Given the description of an element on the screen output the (x, y) to click on. 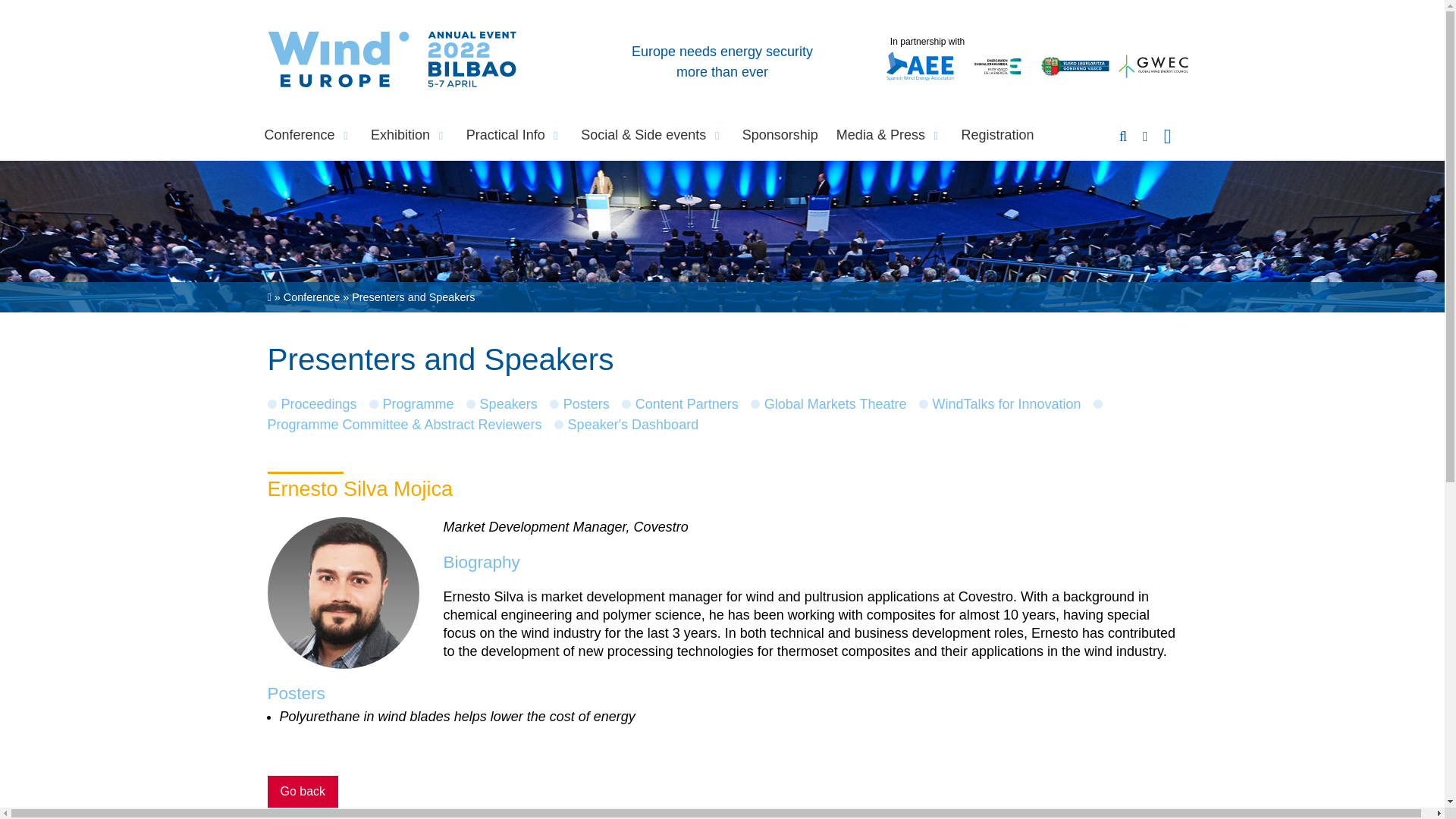
Visit the Spanish Wind Energy Association website (919, 79)
Visit the Basque Government website (1075, 79)
Click here to find out more about the event (721, 61)
Visit Global Wind Energy Council website (1153, 79)
Visit the Basque Energy Agency website (996, 79)
